Given the description of an element on the screen output the (x, y) to click on. 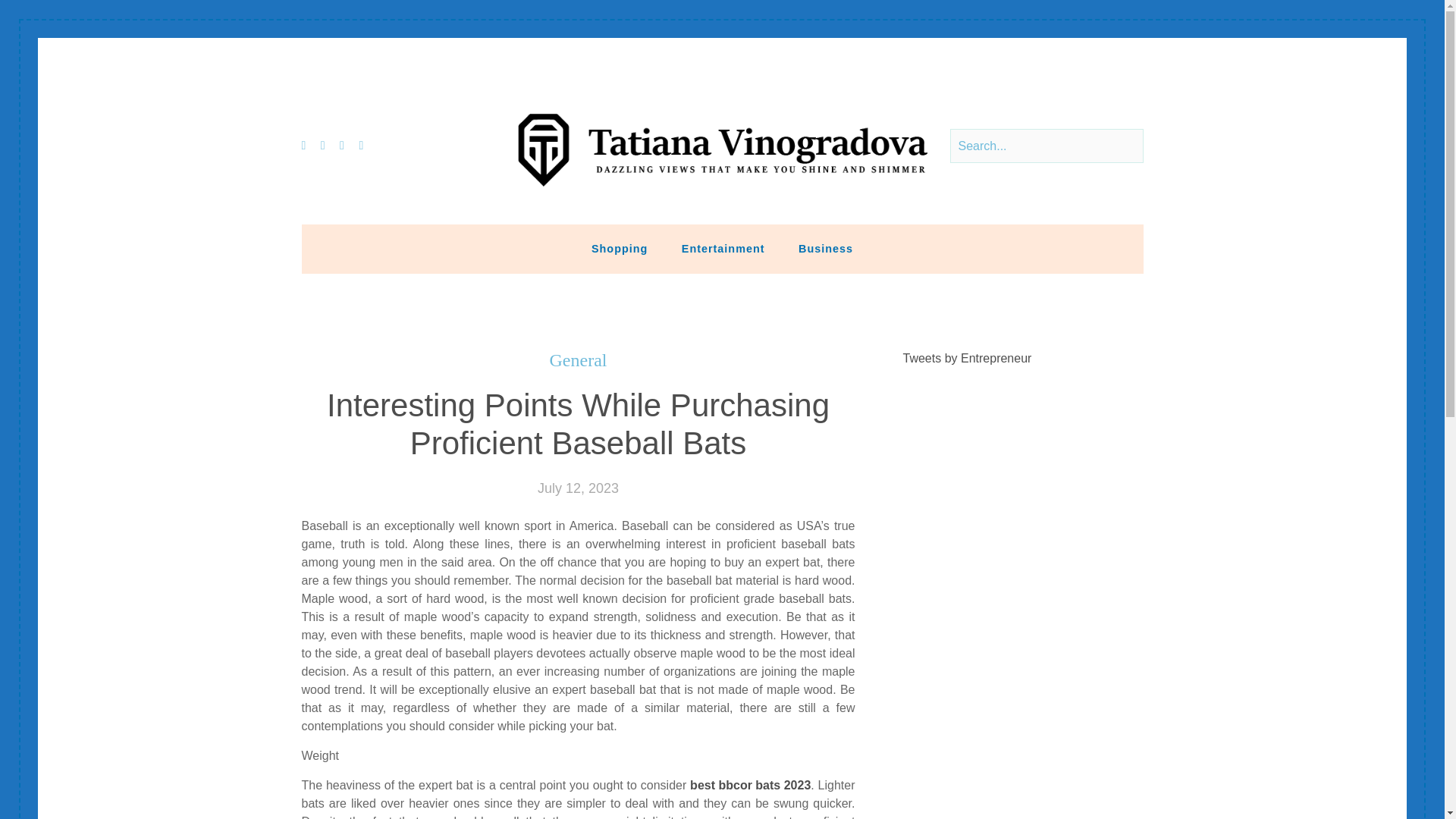
General (578, 360)
Tweets by Entrepreneur (967, 358)
July 12, 2023 (577, 488)
Business (825, 248)
Entertainment (723, 248)
Shopping (619, 248)
best bbcor bats 2023 (750, 785)
